Given the description of an element on the screen output the (x, y) to click on. 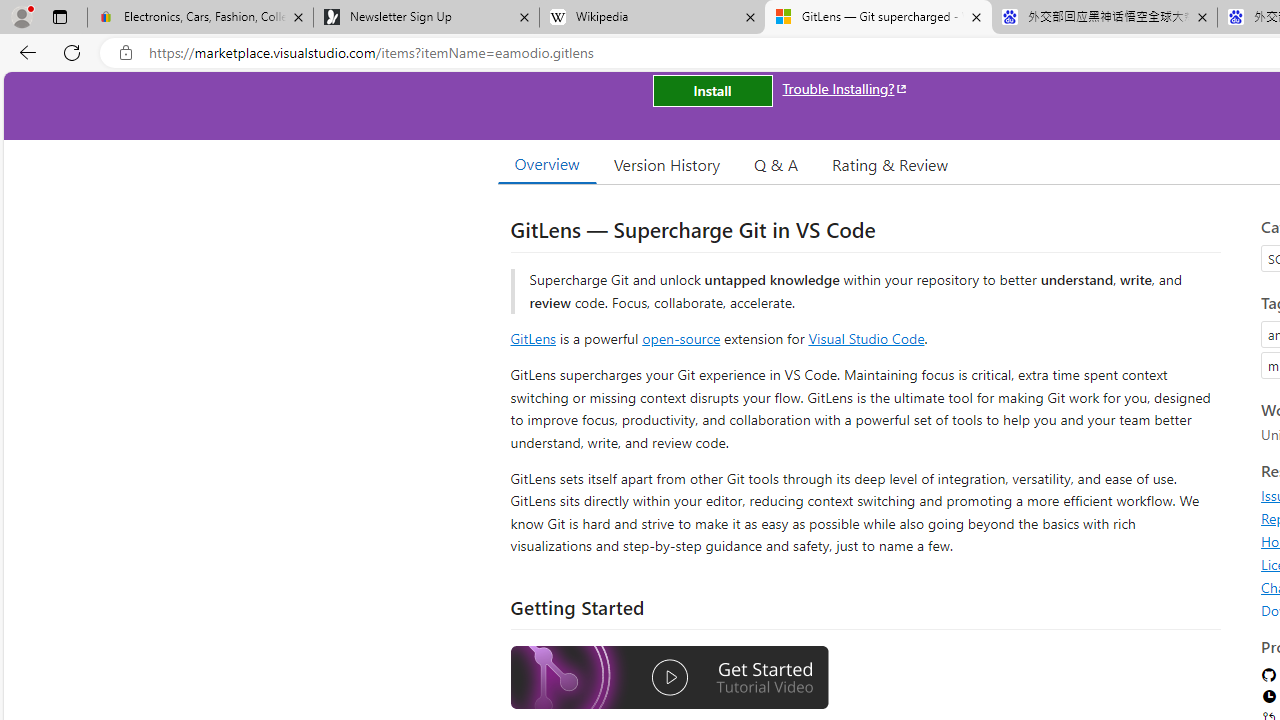
Watch the GitLens Getting Started video (669, 679)
Newsletter Sign Up (425, 17)
Rating & Review (890, 164)
Visual Studio Code (866, 337)
